Given the description of an element on the screen output the (x, y) to click on. 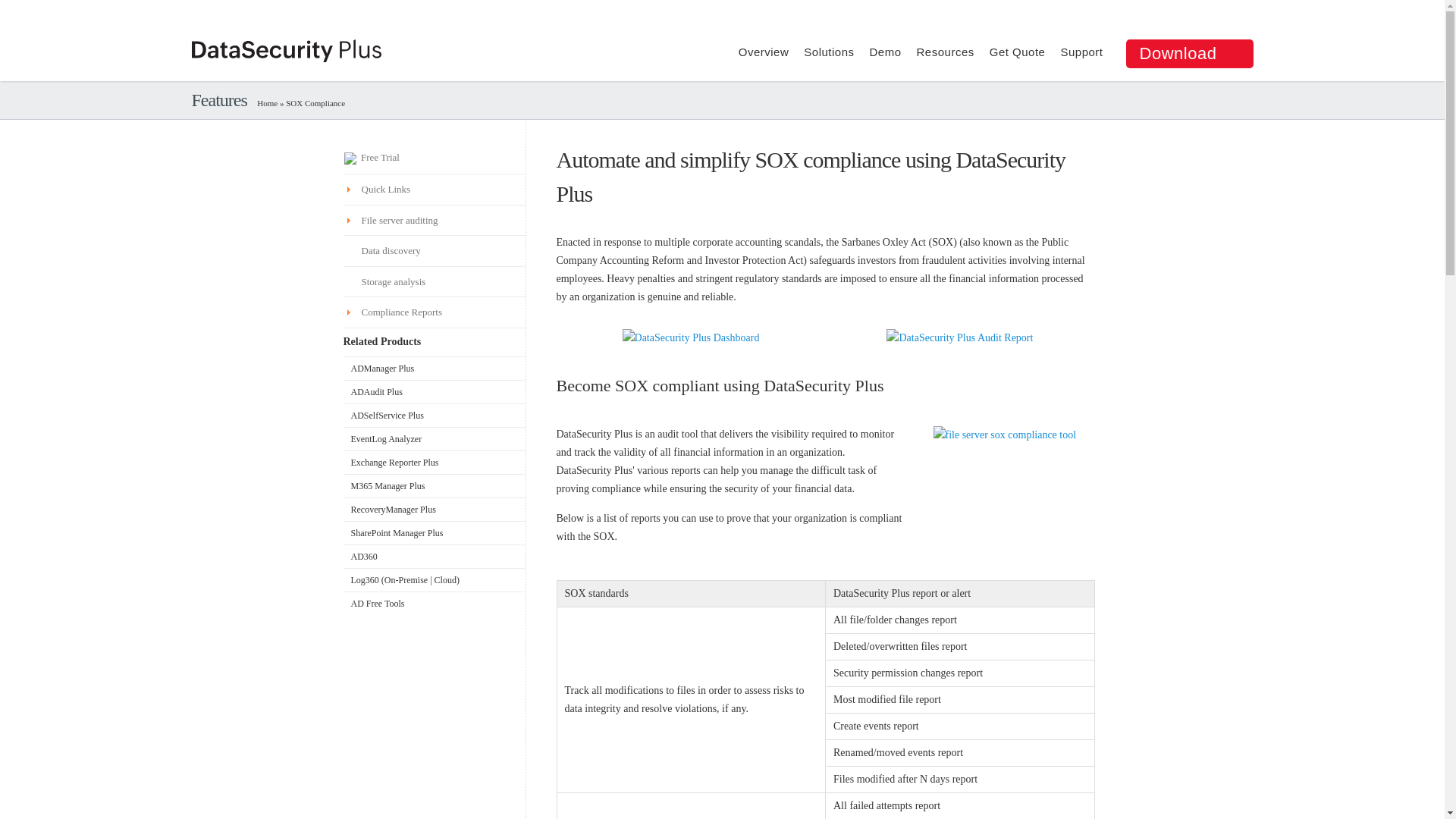
Support (1080, 51)
Overview (763, 51)
Demo (885, 51)
Demo (885, 51)
Resources (945, 51)
Solutions (828, 51)
Get Quote (1017, 51)
Home (267, 102)
Overview (763, 51)
Resources (945, 51)
  Free Trial (433, 157)
Download ManageEngine DataSecurityPlus (1188, 53)
Solutions (828, 51)
Download  (1188, 53)
